Given the description of an element on the screen output the (x, y) to click on. 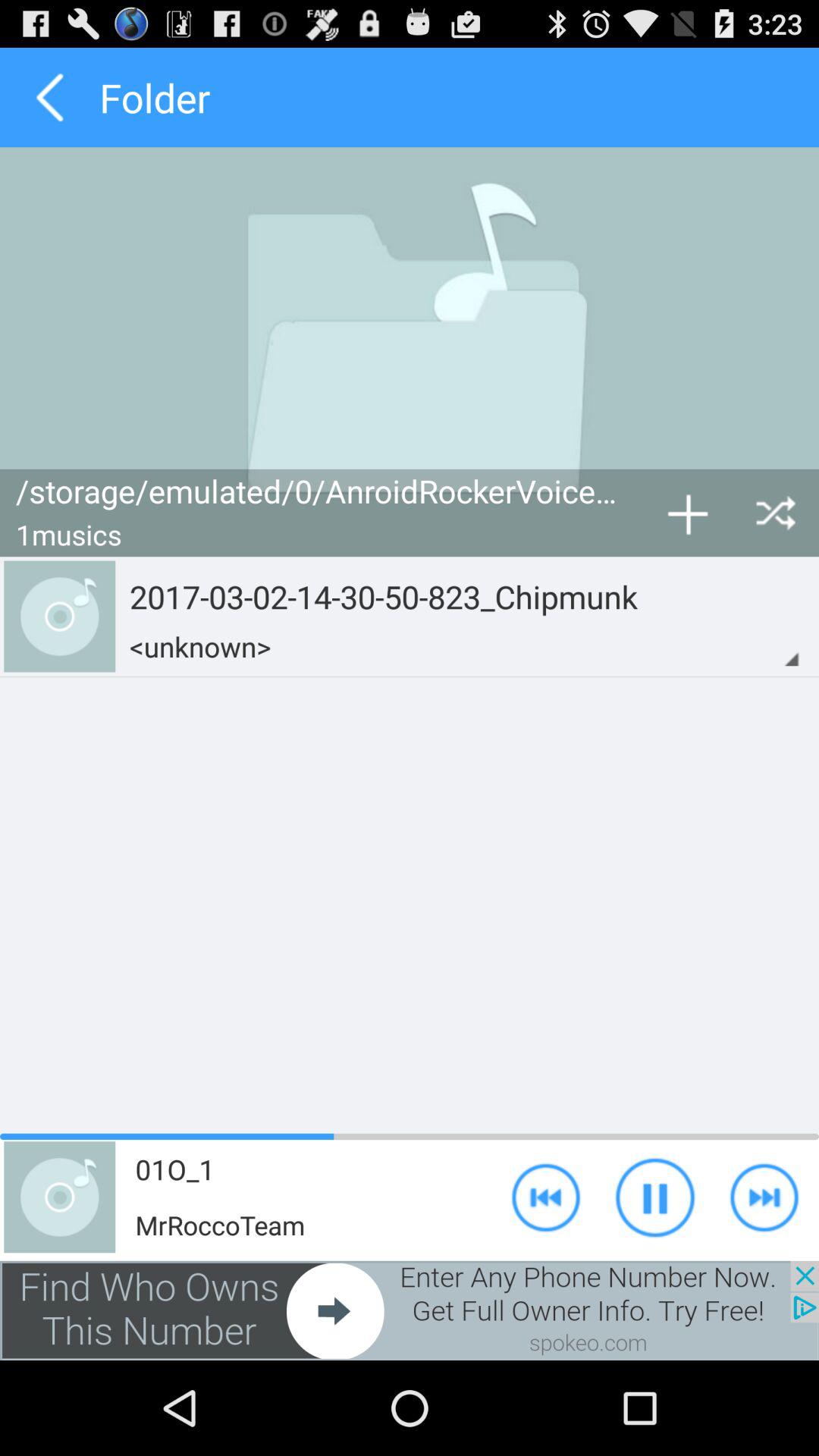
to find owner of the phone number name advertisement (409, 1310)
